Given the description of an element on the screen output the (x, y) to click on. 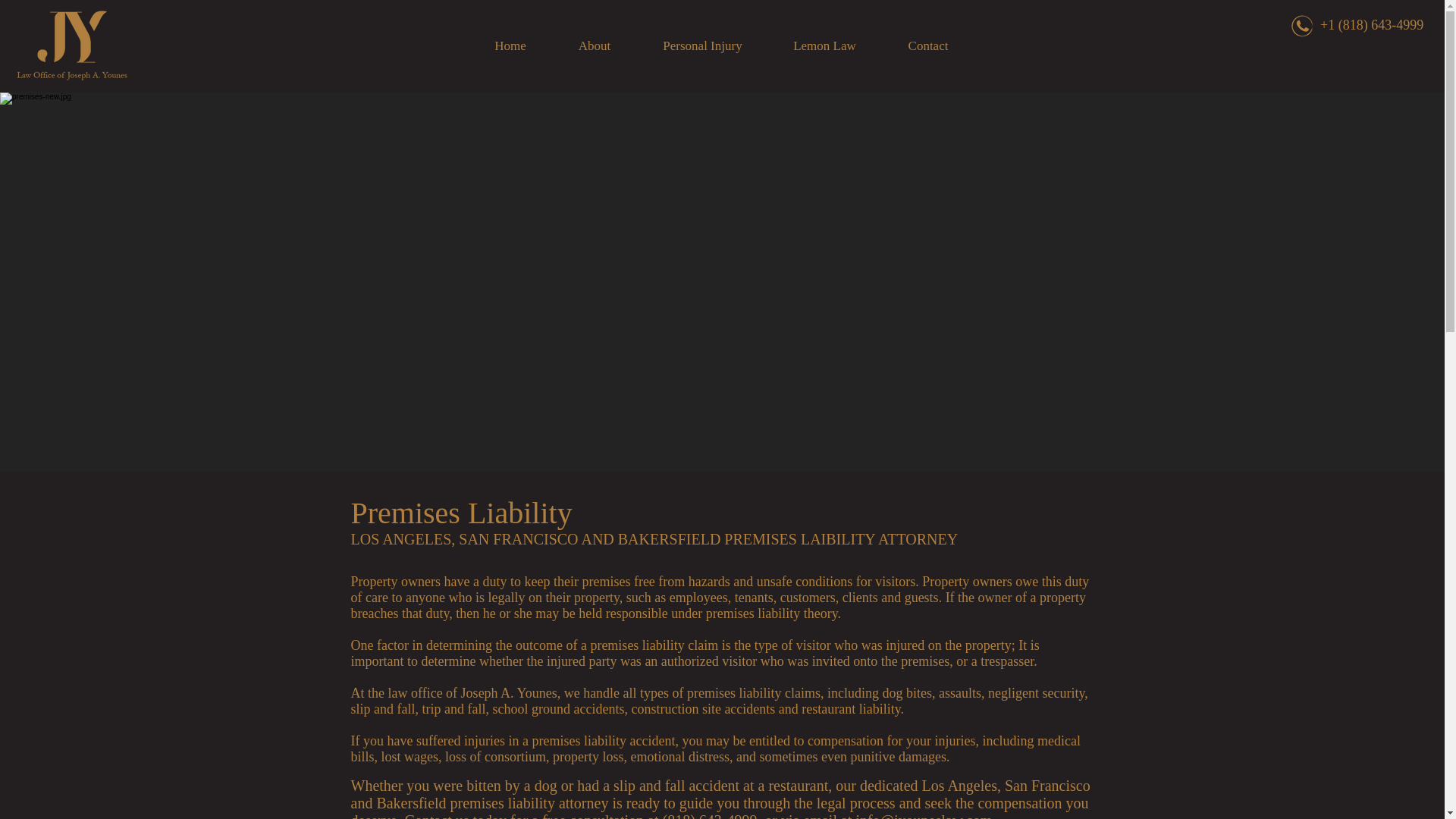
Home (510, 46)
Lemon Law (824, 46)
 compensation (842, 740)
About (593, 46)
Contact (927, 46)
